Given the description of an element on the screen output the (x, y) to click on. 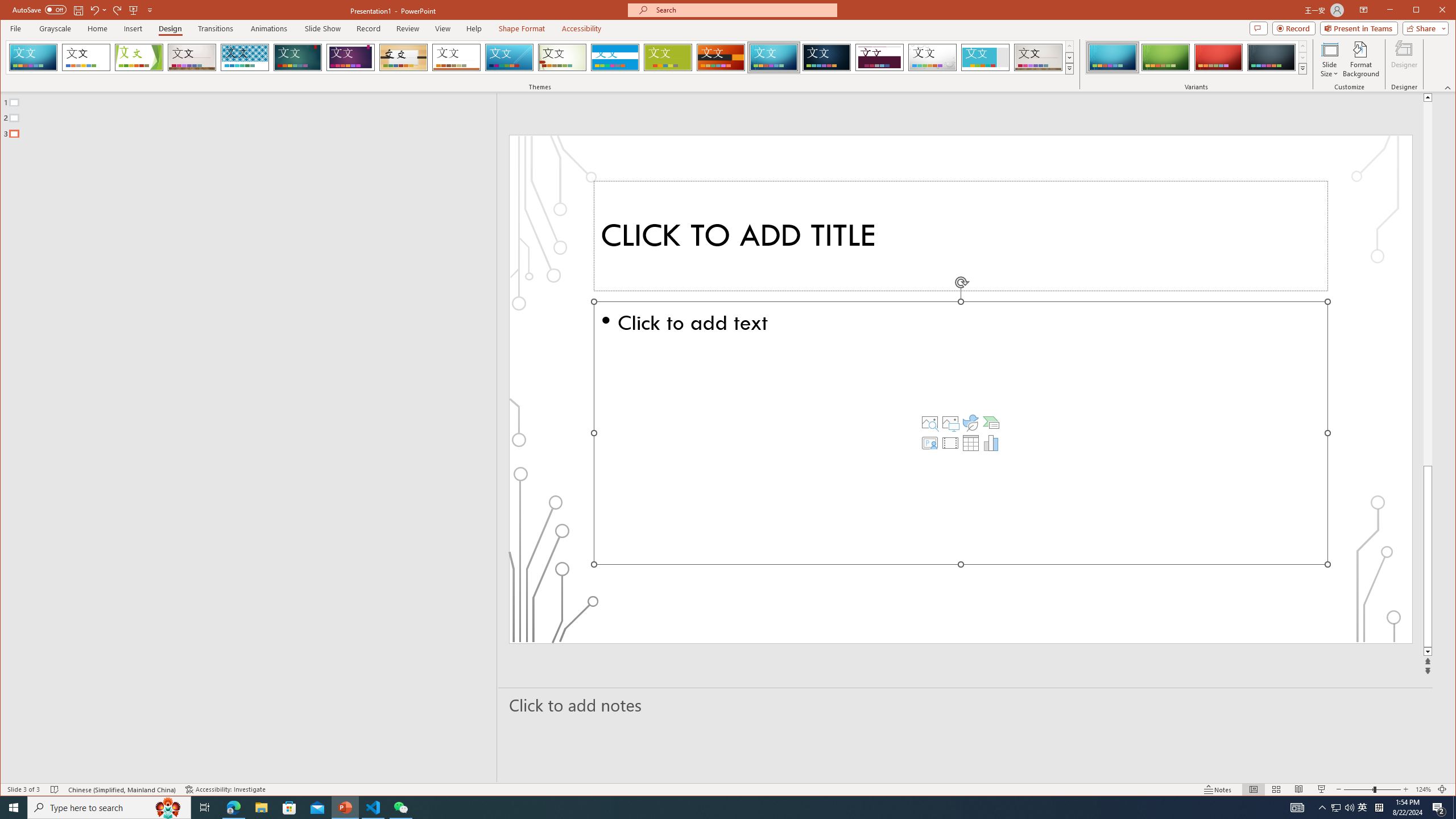
Damask (826, 57)
Slide Size (1328, 59)
Gallery (1037, 57)
AutomationID: SlideThemesGallery (540, 57)
Facet (138, 57)
